Given the description of an element on the screen output the (x, y) to click on. 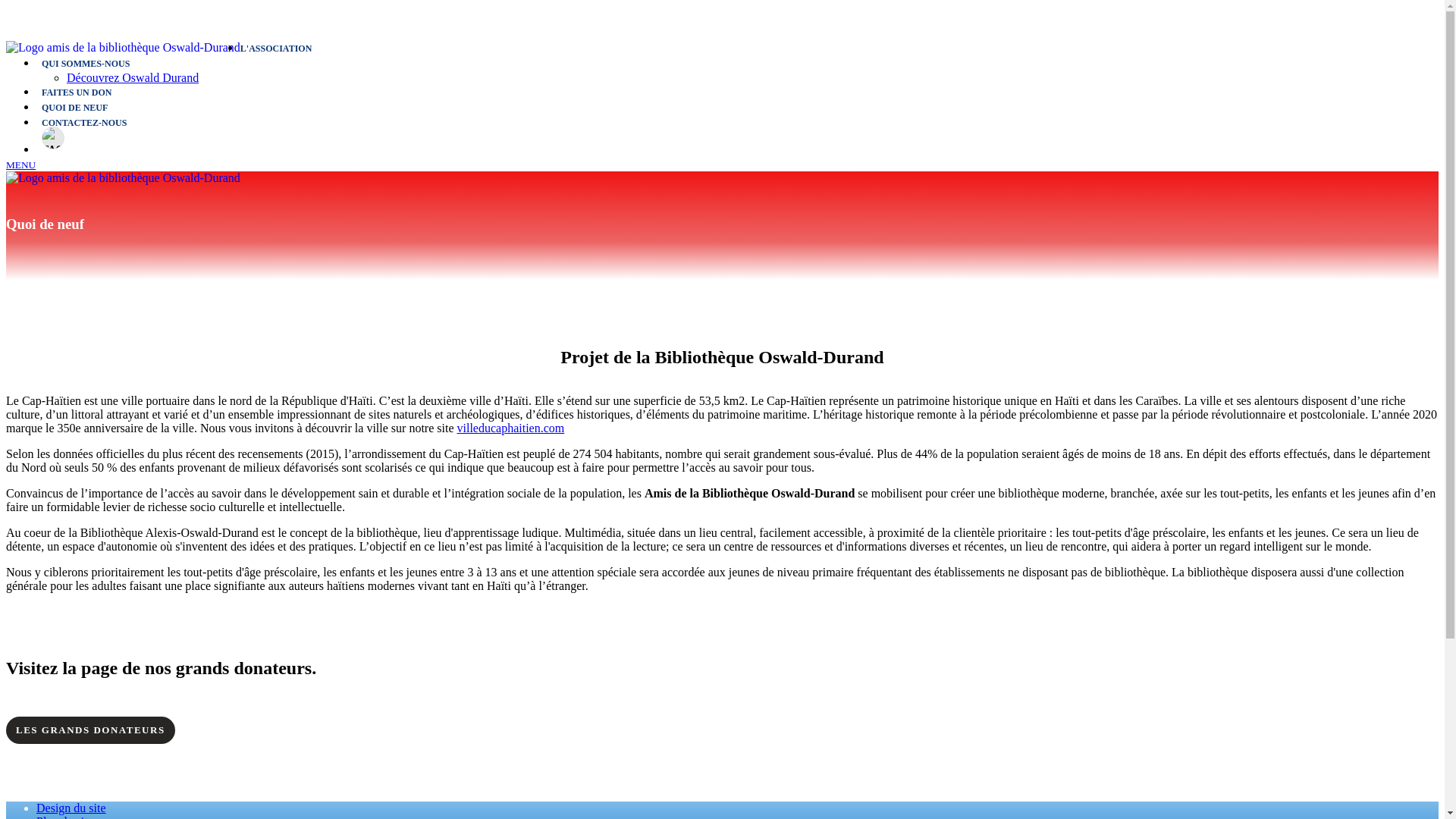
QUOI DE NEUF Element type: text (737, 107)
villeducaphaitien.com Element type: text (510, 427)
MENU Element type: text (20, 163)
Design du site Element type: text (71, 807)
QUI SOMMES-NOUS Element type: text (737, 63)
FAITES UN DON Element type: text (737, 92)
LES GRANDS DONATEURS Element type: text (90, 729)
CONTACTEZ-NOUS Element type: text (737, 122)
L'ASSOCIATION Element type: text (737, 48)
